Given the description of an element on the screen output the (x, y) to click on. 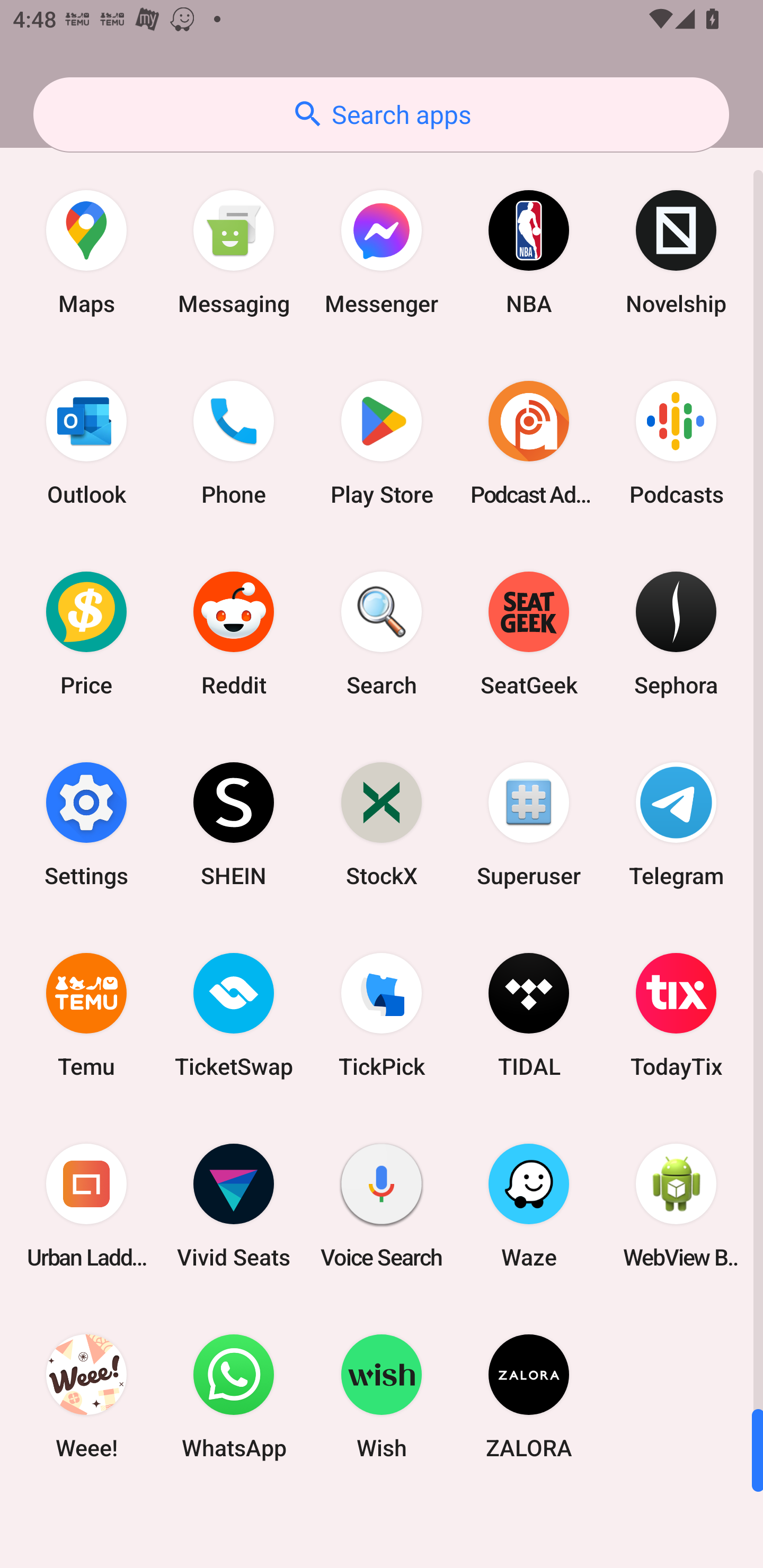
  Search apps (381, 114)
Maps (86, 252)
Messaging (233, 252)
Messenger (381, 252)
NBA (528, 252)
Novelship (676, 252)
Outlook (86, 442)
Phone (233, 442)
Play Store (381, 442)
Podcast Addict (528, 442)
Podcasts (676, 442)
Price (86, 633)
Reddit (233, 633)
Search (381, 633)
SeatGeek (528, 633)
Sephora (676, 633)
Settings (86, 823)
SHEIN (233, 823)
StockX (381, 823)
Superuser (528, 823)
Telegram (676, 823)
Temu (86, 1014)
TicketSwap (233, 1014)
TickPick (381, 1014)
TIDAL (528, 1014)
TodayTix (676, 1014)
Urban Ladder (86, 1205)
Vivid Seats (233, 1205)
Voice Search (381, 1205)
Waze (528, 1205)
WebView Browser Tester (676, 1205)
Weee! (86, 1396)
WhatsApp (233, 1396)
Wish (381, 1396)
ZALORA (528, 1396)
